Given the description of an element on the screen output the (x, y) to click on. 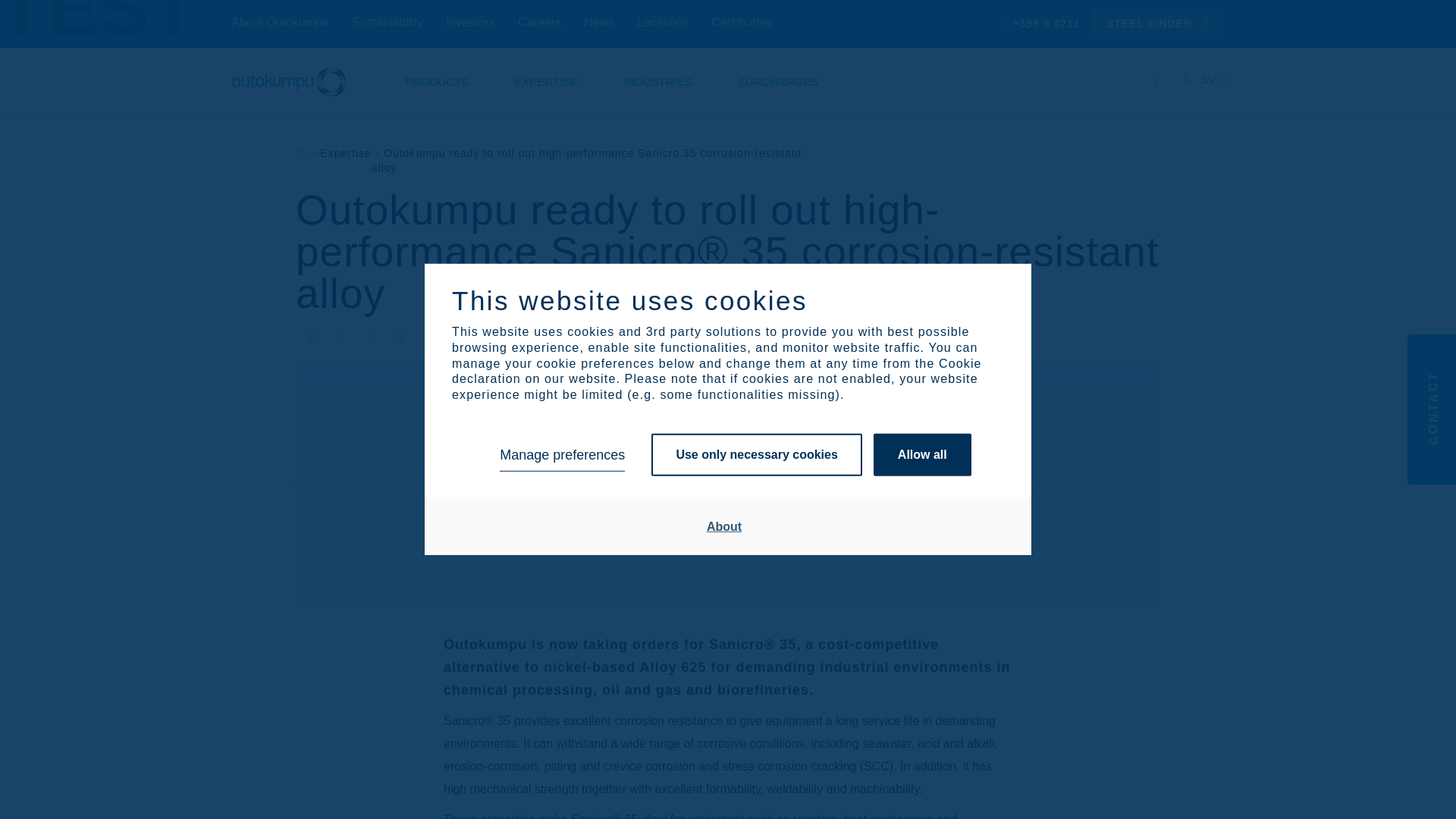
About (724, 526)
Allow all (922, 454)
Manage preferences (561, 454)
Use only necessary cookies (755, 454)
